Given the description of an element on the screen output the (x, y) to click on. 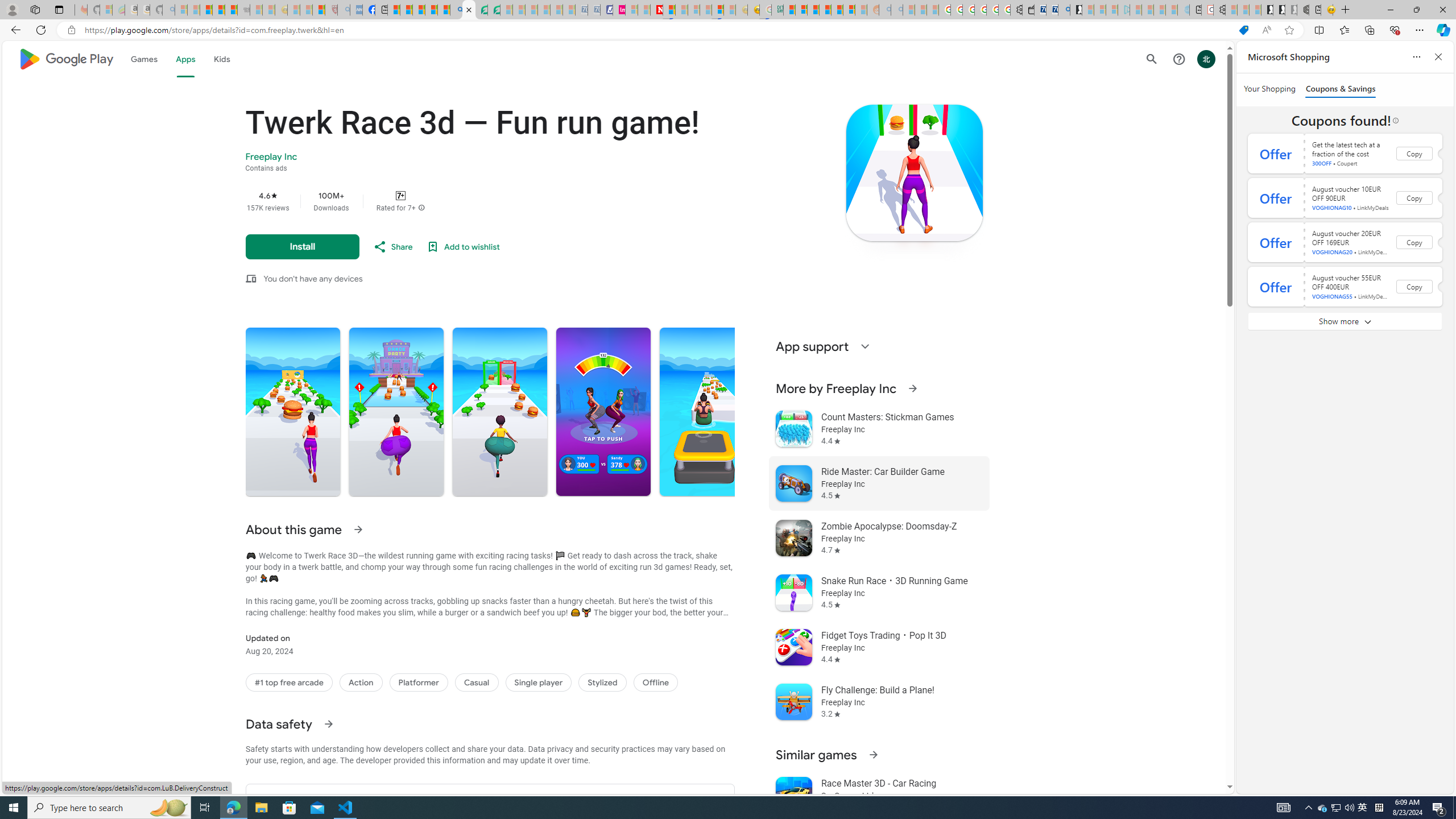
Cheap Car Rentals - Save70.com - Sleeping (581, 9)
Settings (1219, 9)
Latest Politics News & Archive | Newsweek.com (656, 9)
Pets - MSN (431, 9)
